Given the description of an element on the screen output the (x, y) to click on. 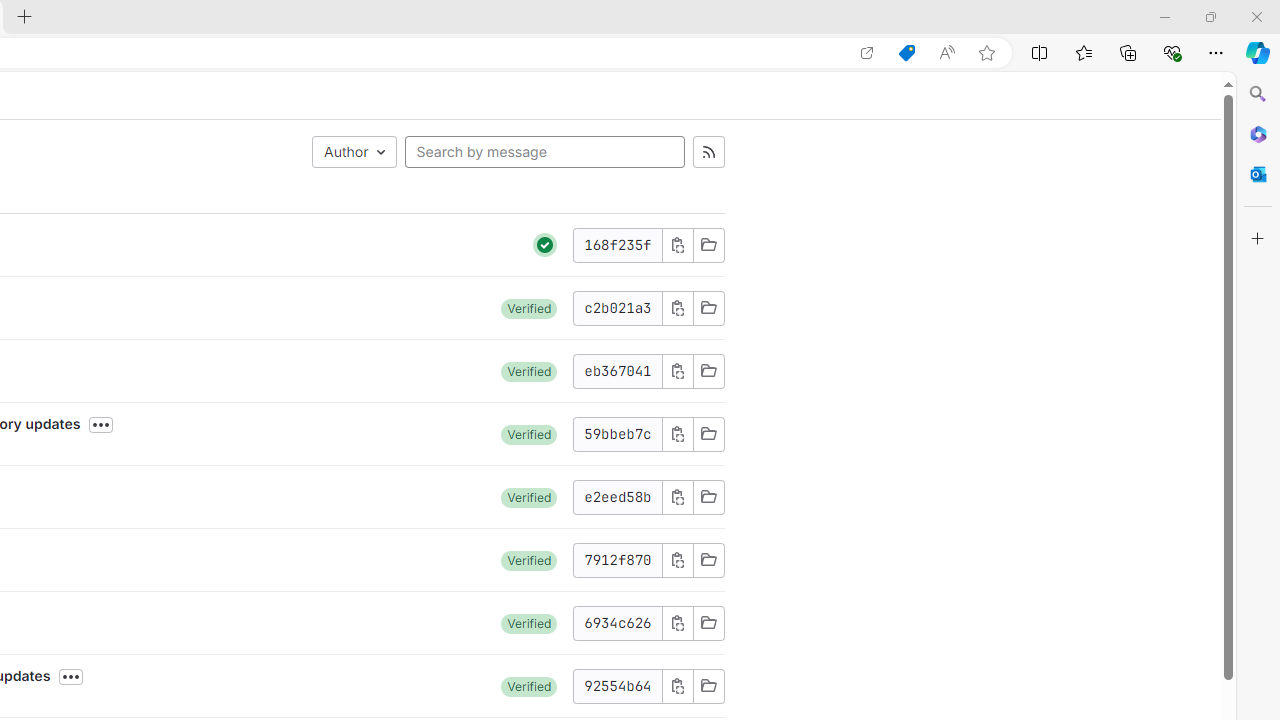
Verified (529, 685)
Minimize (1164, 16)
Microsoft 365 (1258, 133)
Author (354, 151)
Commits feed (708, 151)
Copilot (Ctrl+Shift+.) (1258, 52)
Browser essentials (1171, 52)
Class: s16 (708, 686)
Pipeline: passed (545, 245)
Toggle commit description (71, 677)
Open in app (867, 53)
Browse Files (708, 686)
Search (1258, 94)
Close Outlook pane (1258, 174)
